Given the description of an element on the screen output the (x, y) to click on. 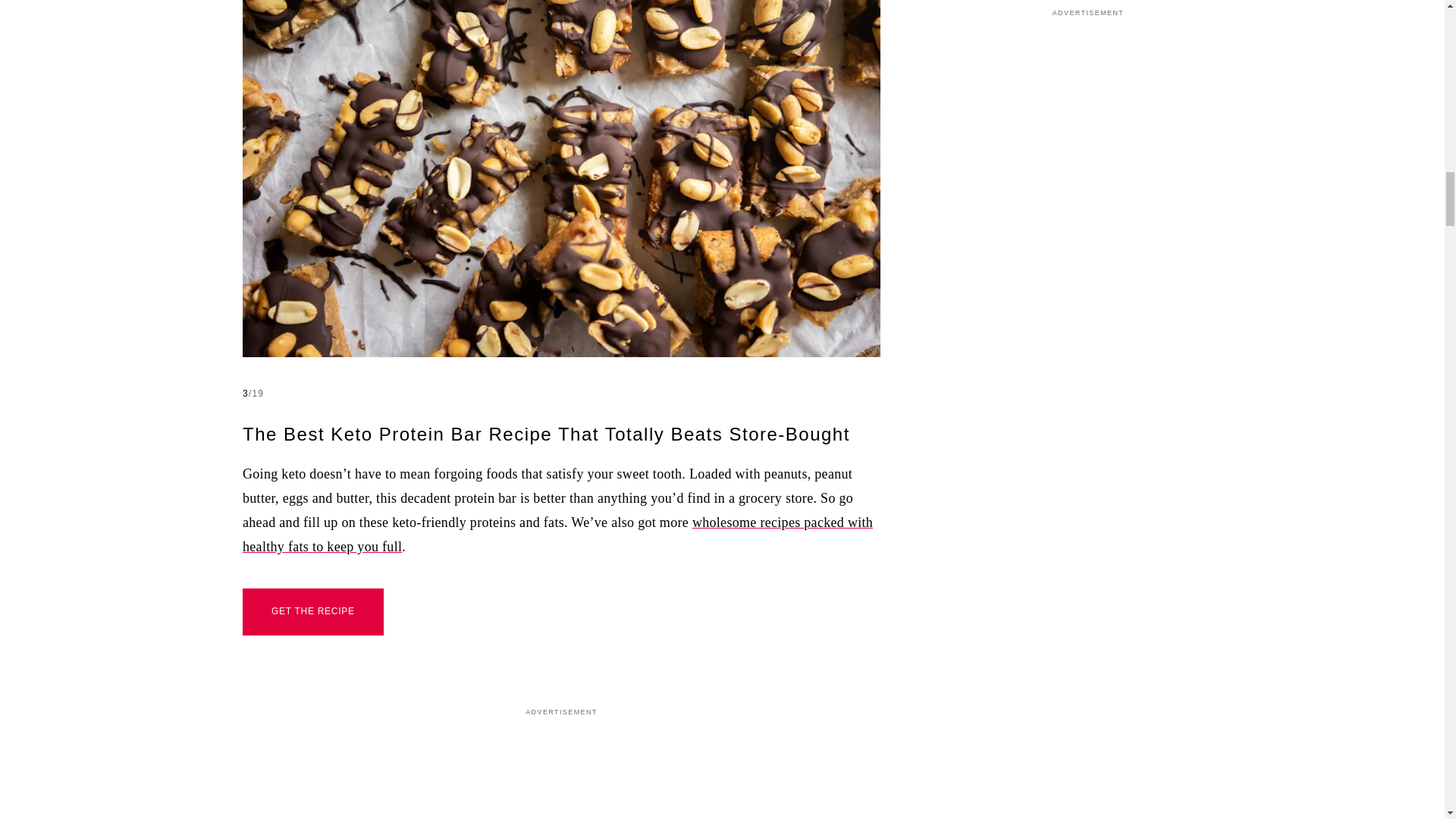
GET THE RECIPE (313, 611)
wholesome recipes packed with healthy fats to keep you full (557, 534)
